Given the description of an element on the screen output the (x, y) to click on. 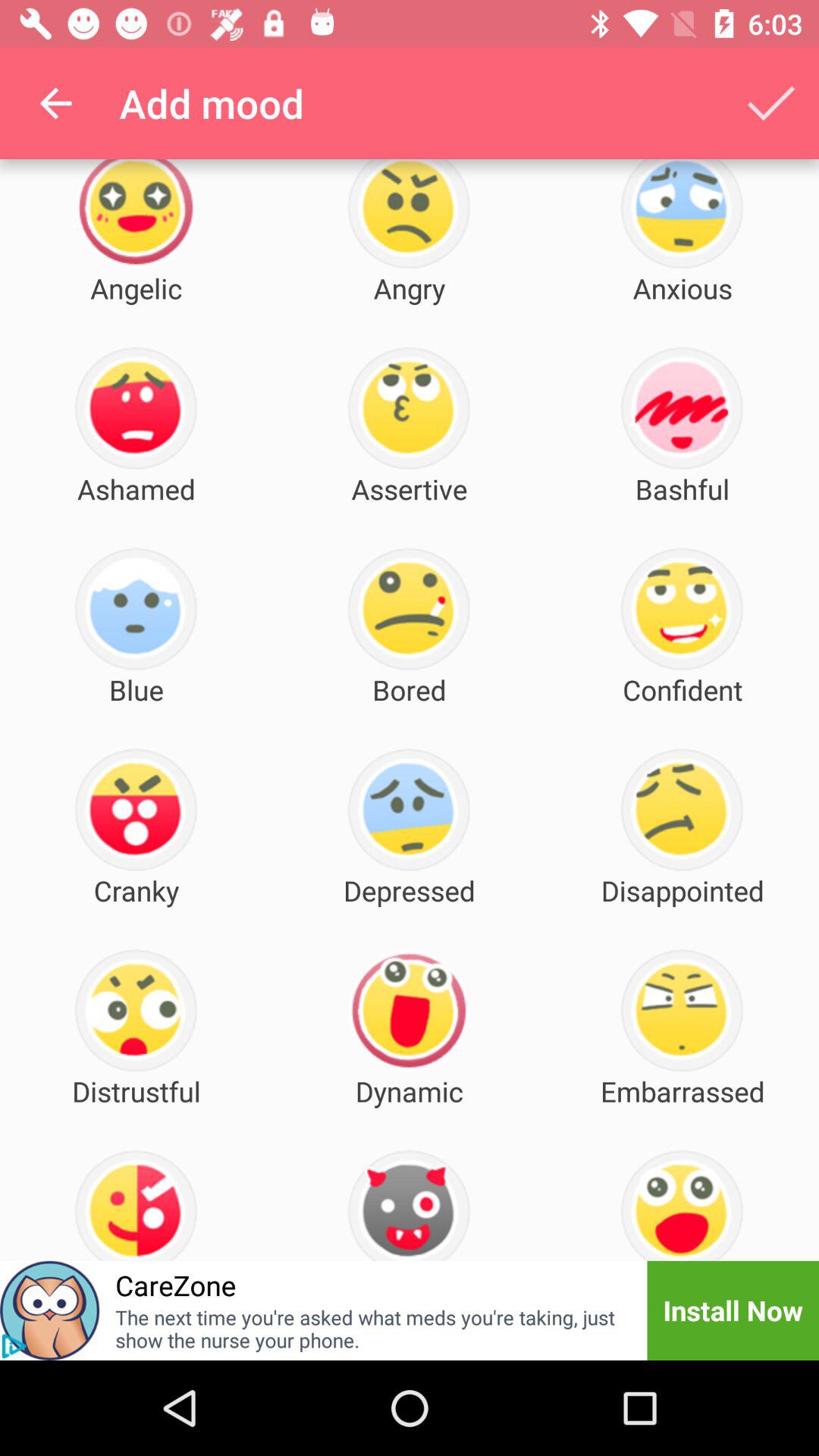
open advertisement (49, 1310)
